Given the description of an element on the screen output the (x, y) to click on. 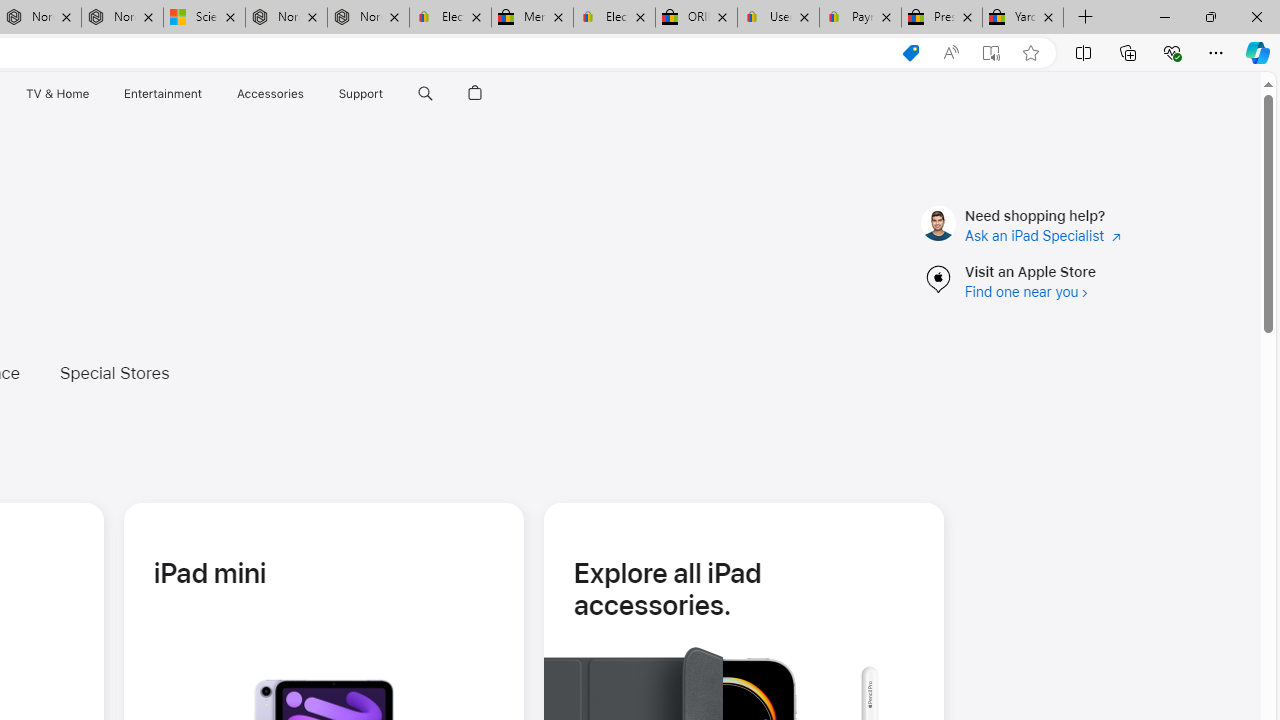
TV and Home (56, 93)
Accessories menu (306, 93)
Class: globalnav-submenu-trigger-item (387, 93)
Search apple.com (425, 93)
Entertainment menu (205, 93)
Support (361, 93)
Nordace - Summer Adventures 2024 (285, 17)
TV and Home menu (92, 93)
Special Stores (114, 372)
Explore all iPad accessories. (743, 588)
Shopping Bag (475, 93)
